Given the description of an element on the screen output the (x, y) to click on. 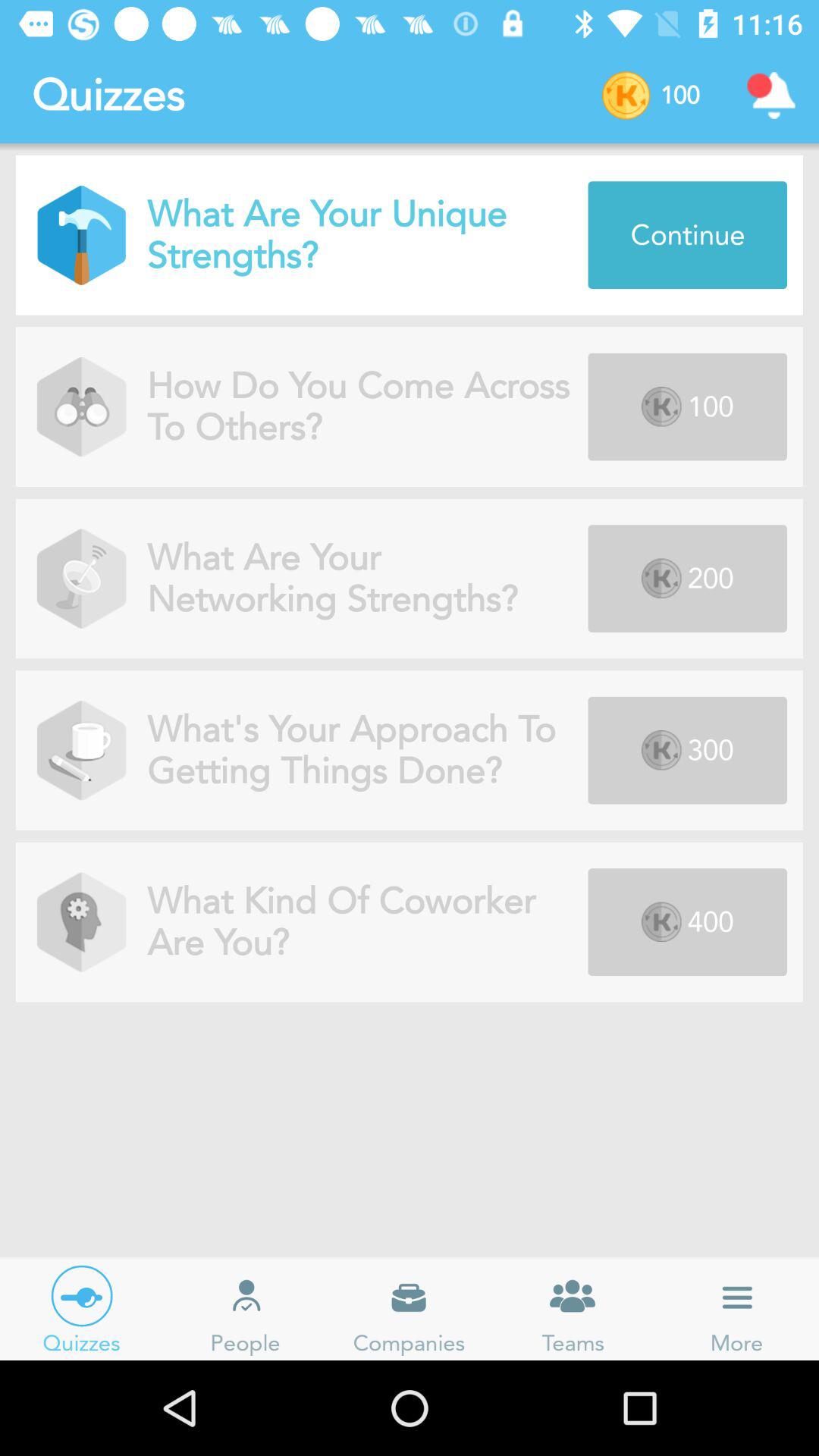
go to the second box below continue (687, 577)
move to second left icon from the top (81, 406)
move to the third label below quizzes on the left side of the page (81, 578)
click on the blue button which is on the right side of the page (687, 234)
click on the icon above teams on the bottom of the page (573, 1297)
click on people icon (245, 1297)
